Given the description of an element on the screen output the (x, y) to click on. 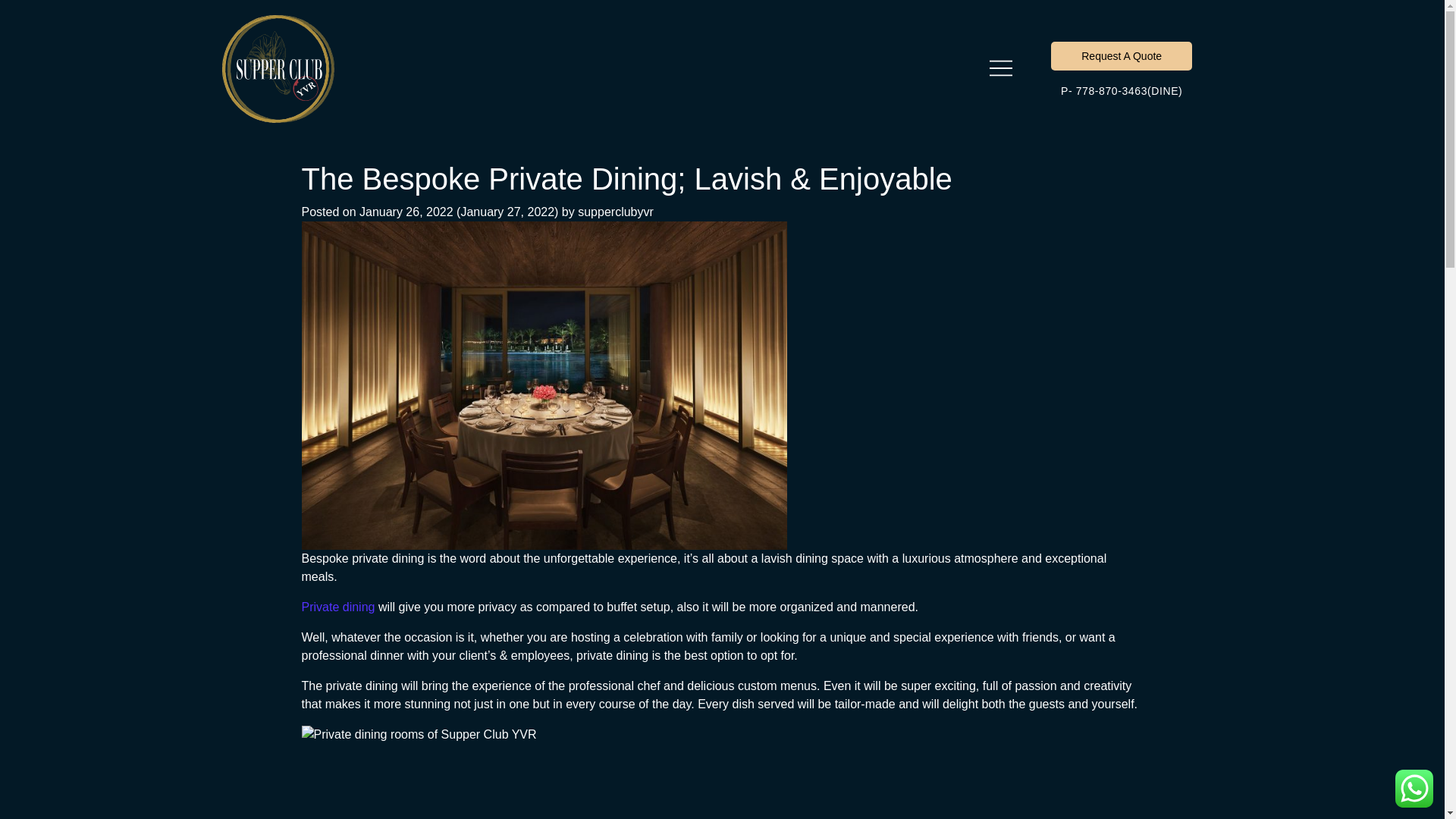
supperclubyvr (615, 211)
Private dining (338, 606)
Request A Quote (1121, 55)
